Given the description of an element on the screen output the (x, y) to click on. 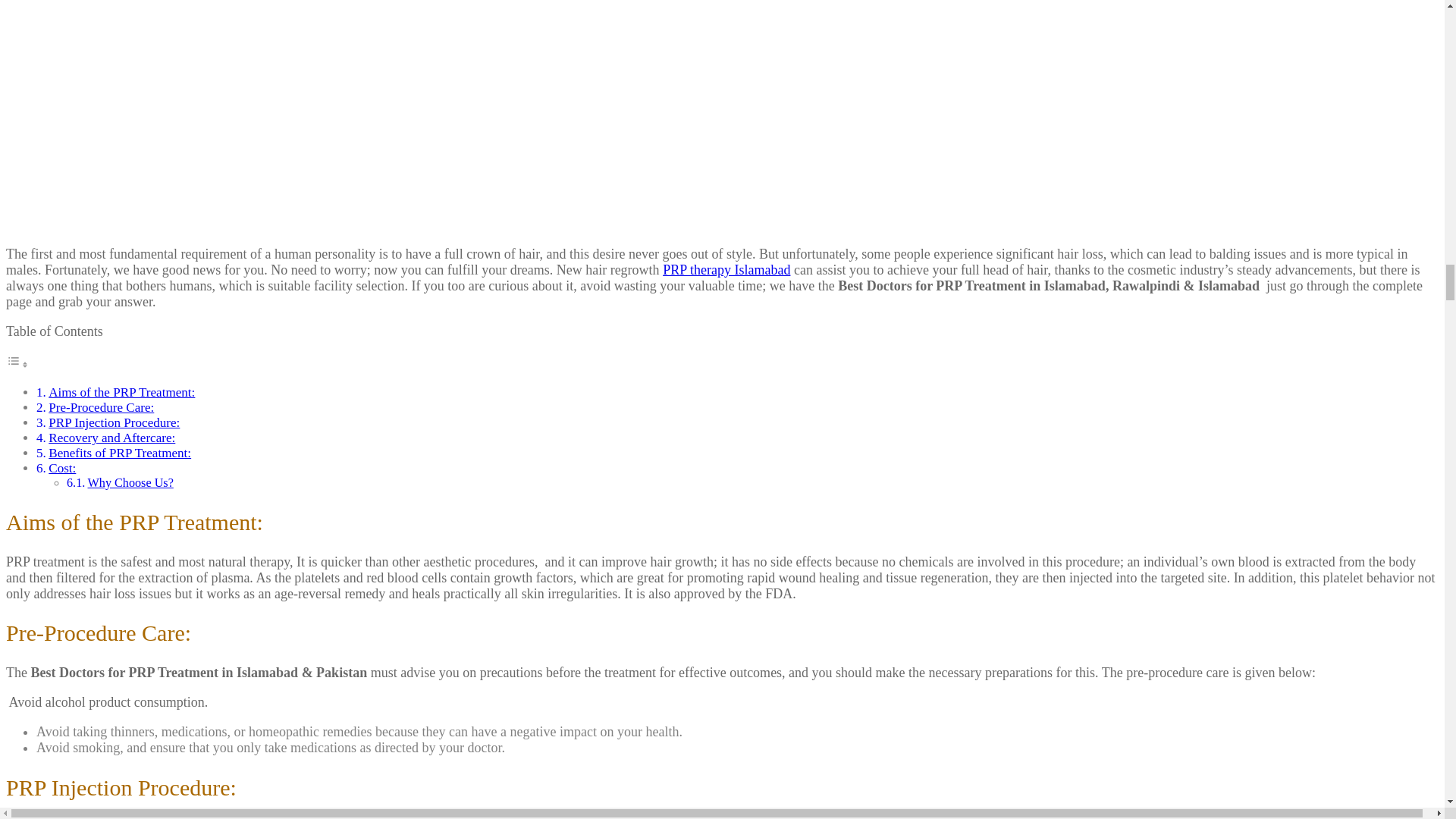
Why Choose Us? (130, 482)
Cost: (61, 468)
Benefits of PRP Treatment: (119, 452)
Aims of the PRP Treatment: (121, 391)
PRP Injection Procedure: (113, 422)
Pre-Procedure Care: (101, 407)
Recovery and Aftercare: (111, 437)
